Given the description of an element on the screen output the (x, y) to click on. 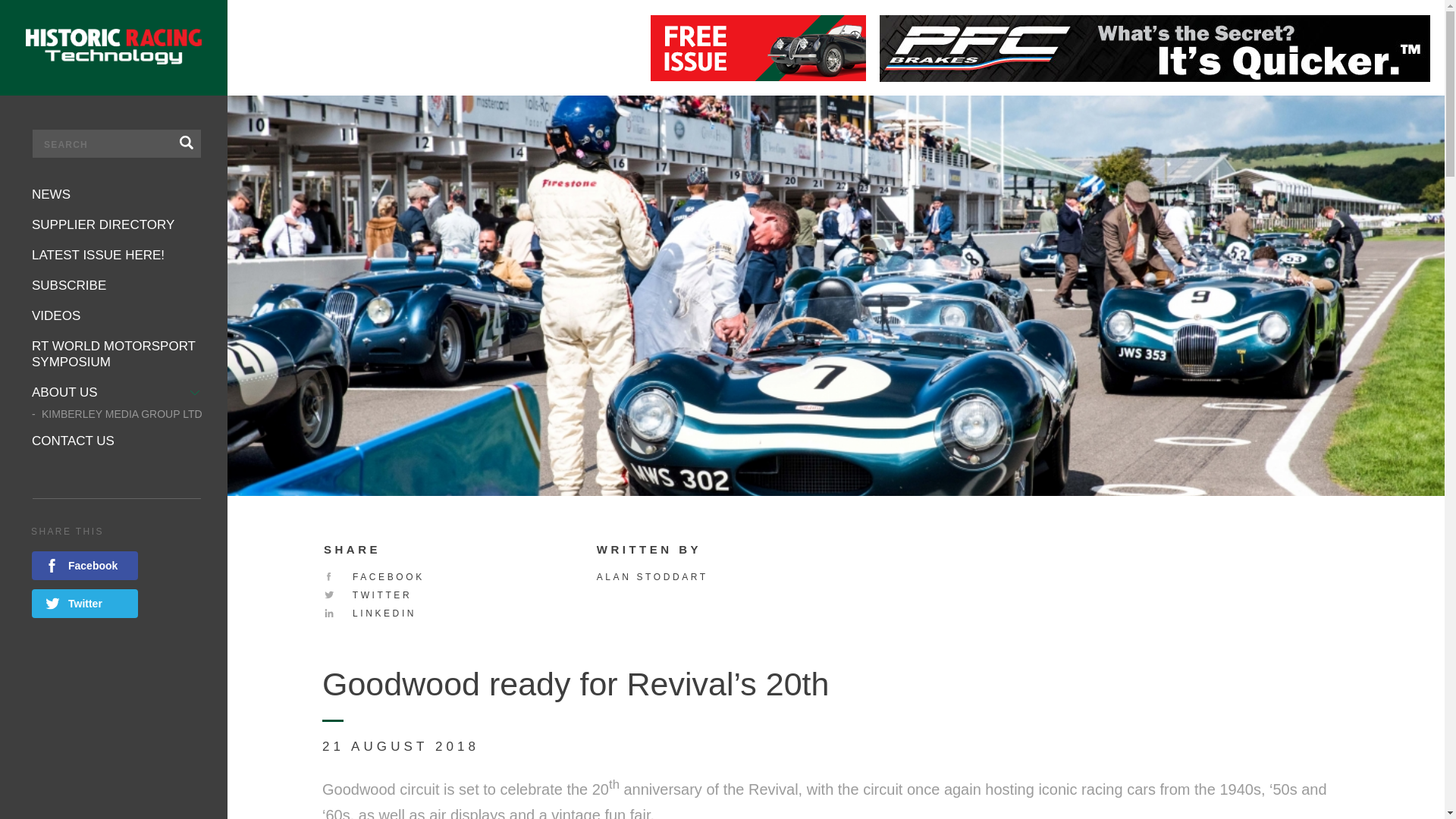
LINKEDIN (369, 613)
TWITTER (367, 594)
FACEBOOK (374, 576)
